Given the description of an element on the screen output the (x, y) to click on. 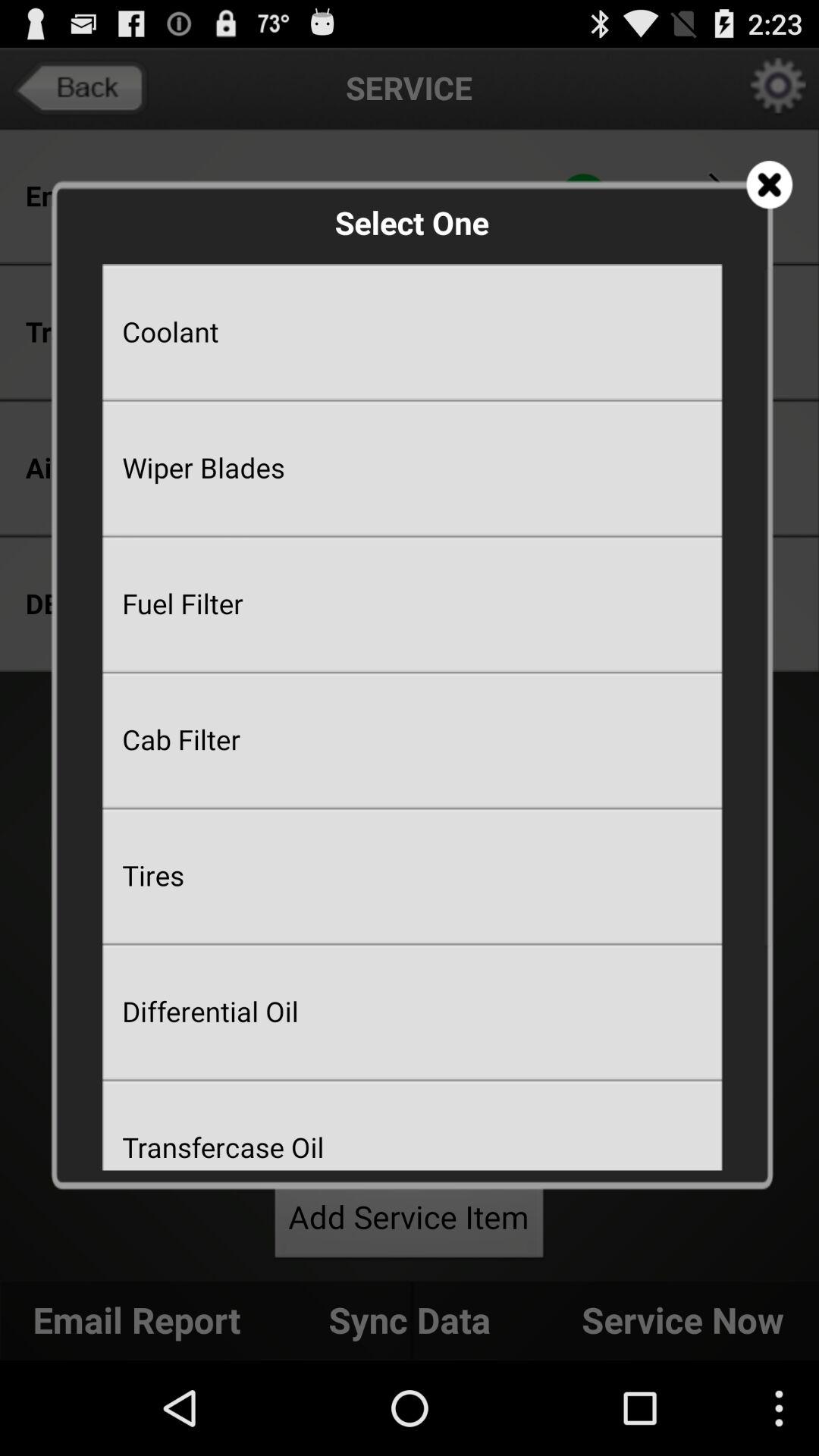
close this section (769, 184)
